Given the description of an element on the screen output the (x, y) to click on. 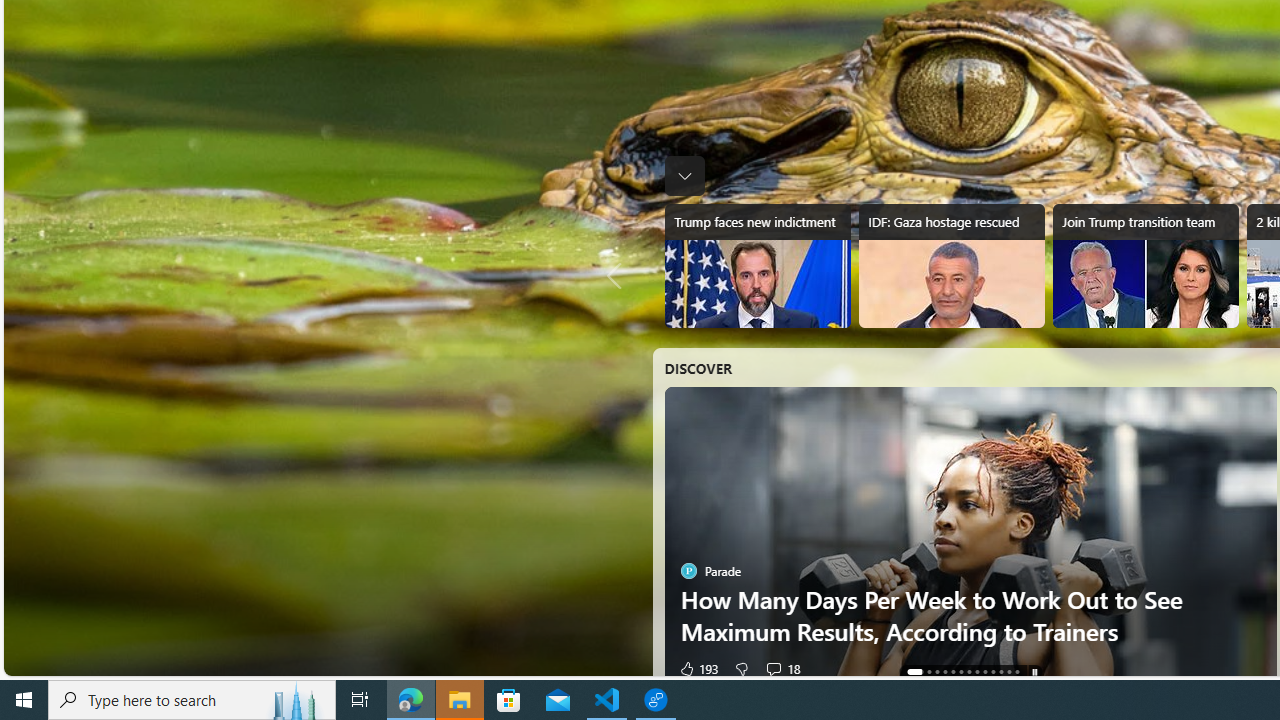
AutomationID: tab-2 (936, 671)
AutomationID: tab-6 (968, 671)
Dislike (735, 668)
13 Like (694, 668)
Join Trump transition team (1145, 265)
AutomationID: tab-12 (1016, 671)
AutomationID: tab-4 (952, 671)
AutomationID: tab-5 (961, 671)
The taskbar was expanded. Press to collapse taskbar (684, 175)
AutomationID: tab-9 (993, 671)
AutomationID: tab-7 (976, 671)
AutomationID: tab-8 (984, 671)
AutomationID: tab-3 (944, 671)
Previous news (619, 275)
